Given the description of an element on the screen output the (x, y) to click on. 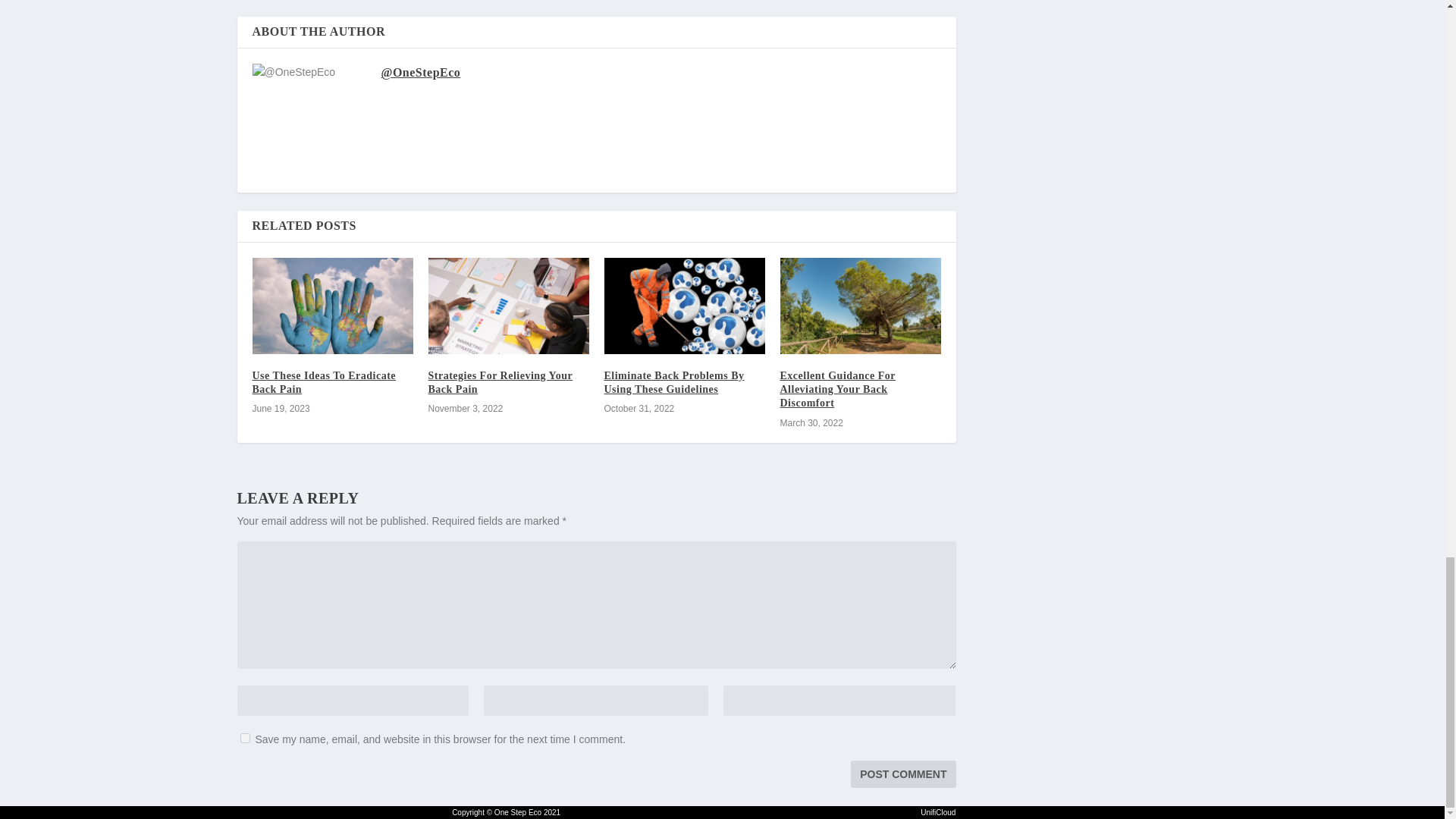
yes (244, 737)
Post Comment (902, 773)
